Given the description of an element on the screen output the (x, y) to click on. 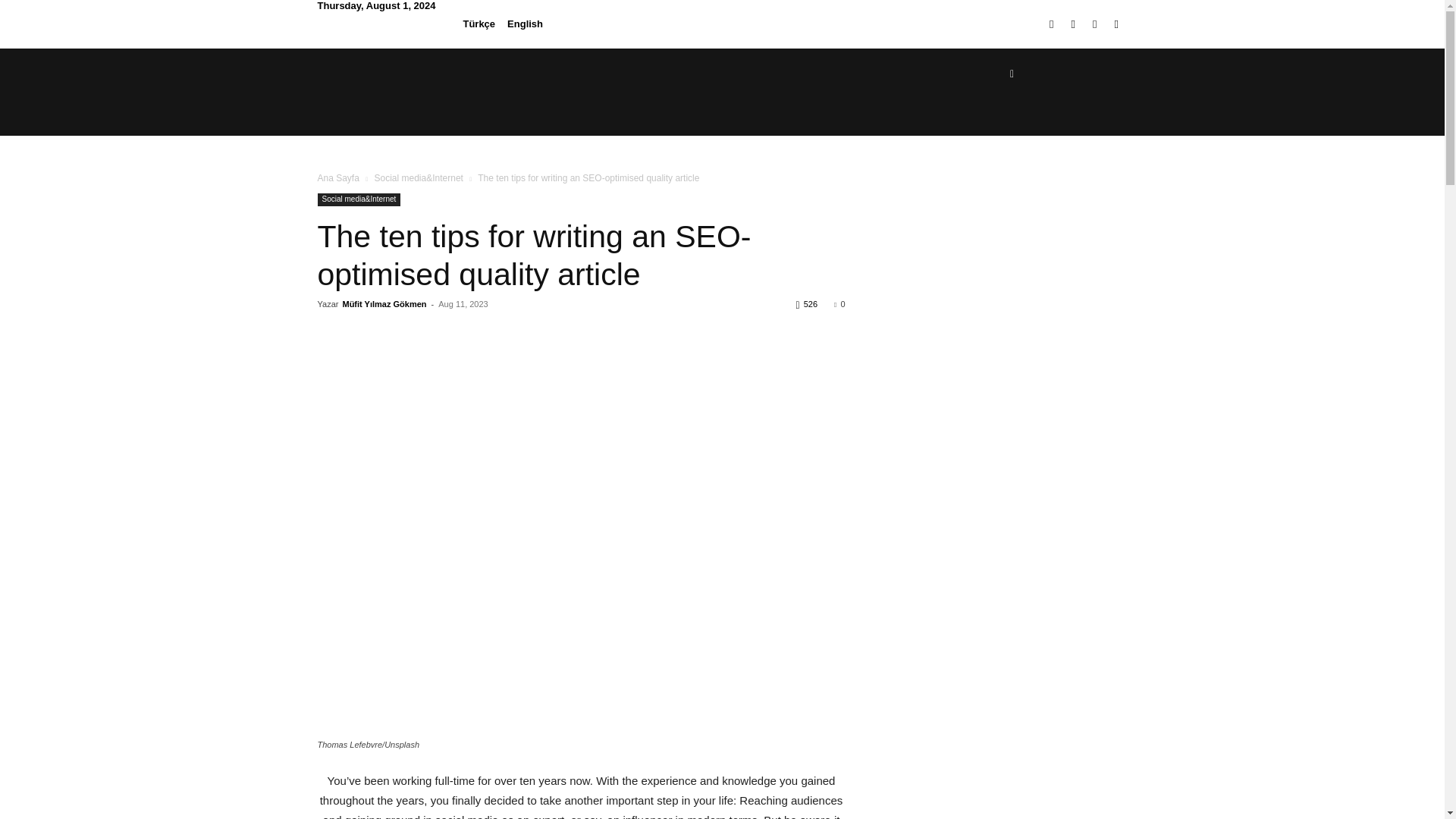
Youtube (1115, 24)
dijitalx marka logosu (392, 73)
English (524, 22)
Ana Sayfa (337, 177)
Twitter (1094, 24)
Facebook (1051, 24)
0 (839, 303)
Instagram (1073, 24)
